Given the description of an element on the screen output the (x, y) to click on. 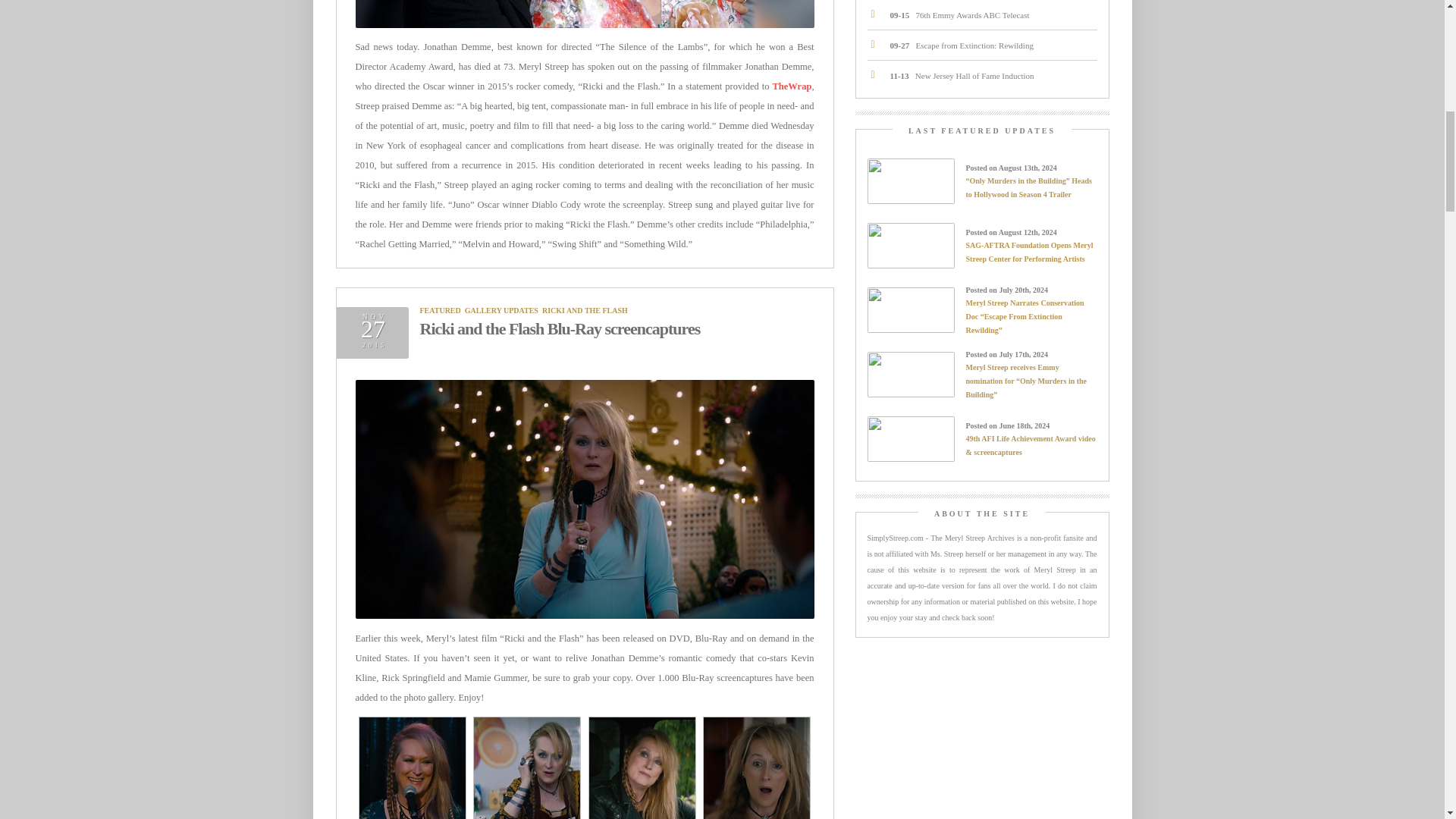
Ricki and the Flash Blu-Ray screencaptures (560, 328)
FEATURED (440, 310)
GALLERY UPDATES (501, 310)
TheWrap (790, 86)
RICKI AND THE FLASH (584, 310)
